Given the description of an element on the screen output the (x, y) to click on. 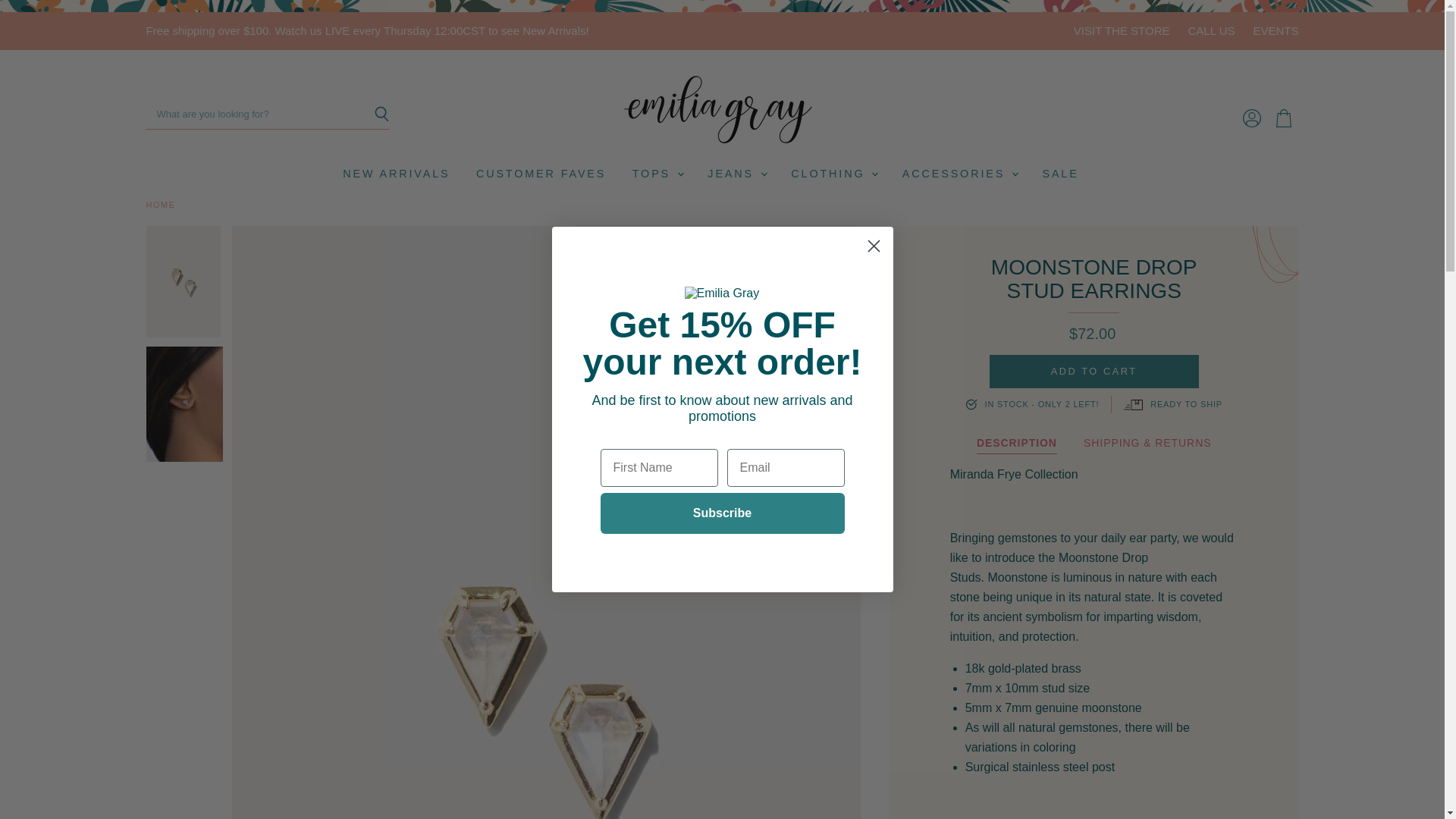
EVENTS (1275, 30)
View cart (1283, 118)
CUSTOMER FAVES (540, 173)
VISIT THE STORE (1122, 30)
NEW ARRIVALS (396, 173)
Close dialog 1 (873, 245)
TOPS (657, 173)
JEANS (735, 173)
View account (1251, 118)
CALL US (1211, 30)
CLOTHING (832, 173)
